Given the description of an element on the screen output the (x, y) to click on. 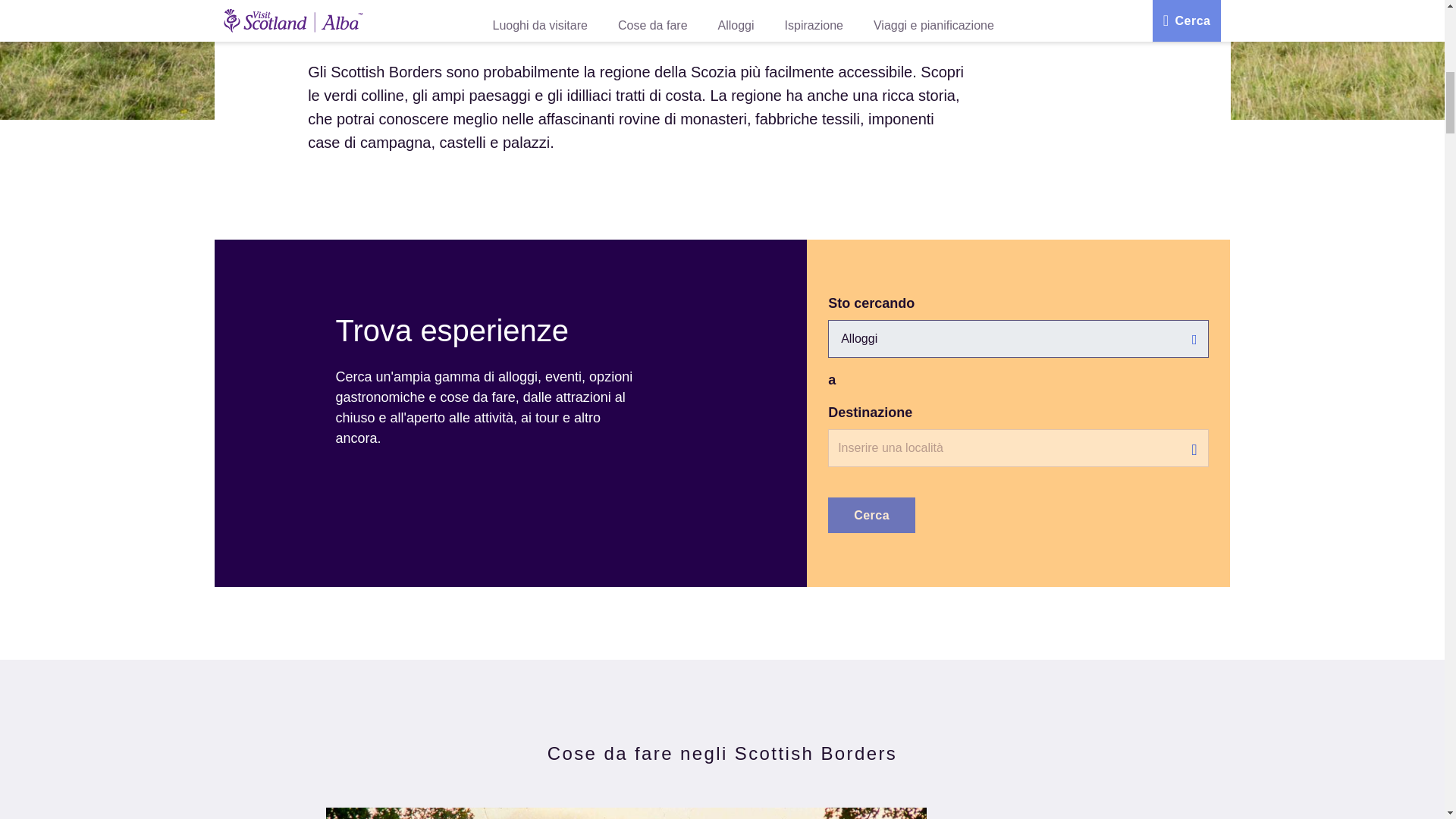
Cerca (871, 515)
Condividi (1192, 13)
